Given the description of an element on the screen output the (x, y) to click on. 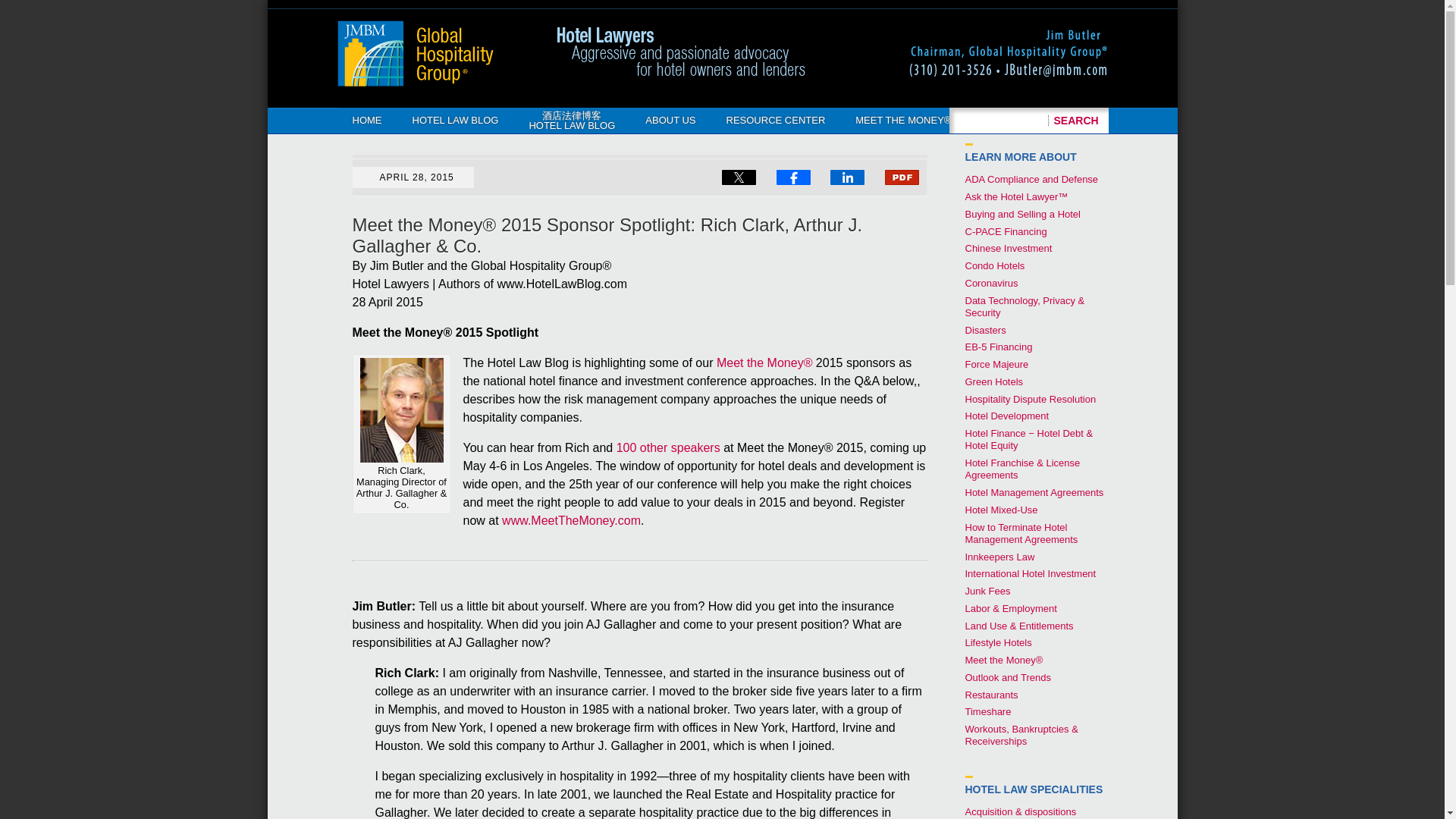
ABOUT US (670, 120)
SEARCH (1076, 120)
Force Majeure (995, 364)
EB-5 Financing (997, 346)
C-PACE Financing (1004, 231)
Green Hotels (993, 381)
RESOURCE CENTER (776, 120)
Disasters (984, 329)
100 other speakers (667, 447)
Condo Hotels (994, 265)
Chinese Investment (1007, 247)
Hotel Development (1005, 415)
CONTACT US (1012, 120)
www.MeetTheMoney.com (571, 520)
Meet the Money 2015 (764, 362)
